Given the description of an element on the screen output the (x, y) to click on. 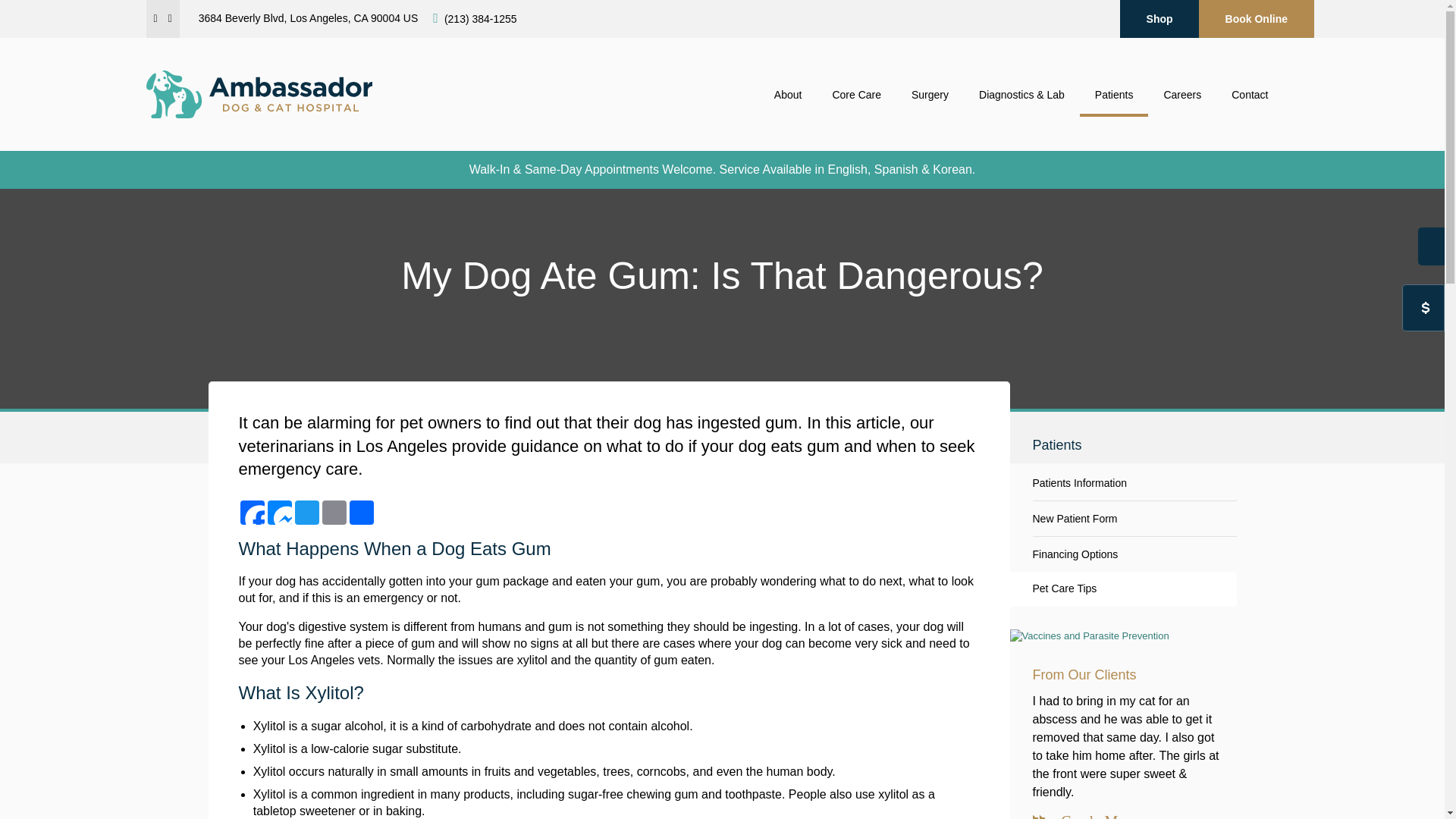
Book Online (1255, 18)
About (787, 94)
Shop (1158, 18)
